Given the description of an element on the screen output the (x, y) to click on. 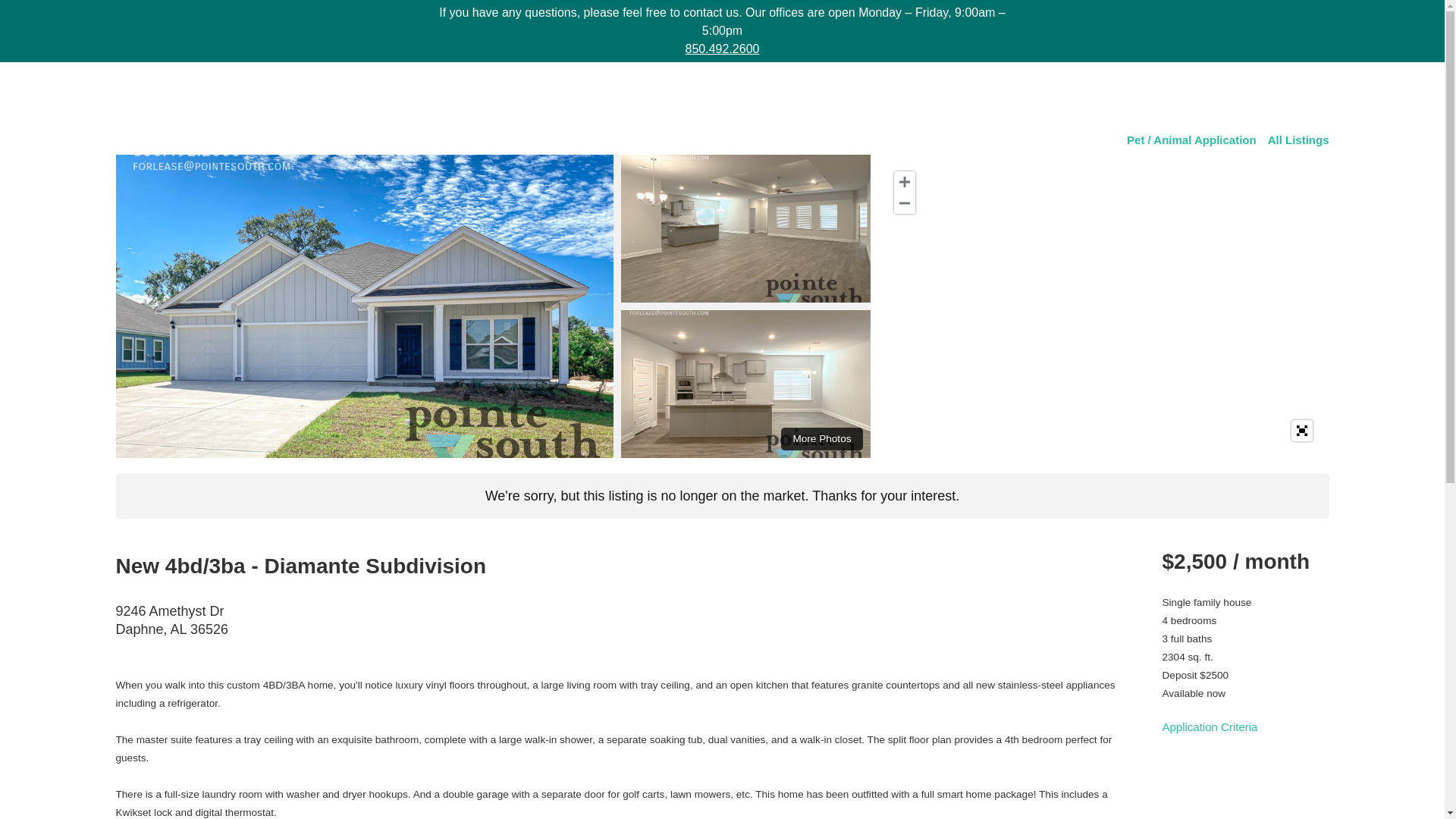
Zoom out (904, 202)
All Listings (1298, 140)
Zoom in (904, 181)
Application Criteria (1209, 726)
850.492.2600 (722, 48)
Full Screen (1302, 430)
